Given the description of an element on the screen output the (x, y) to click on. 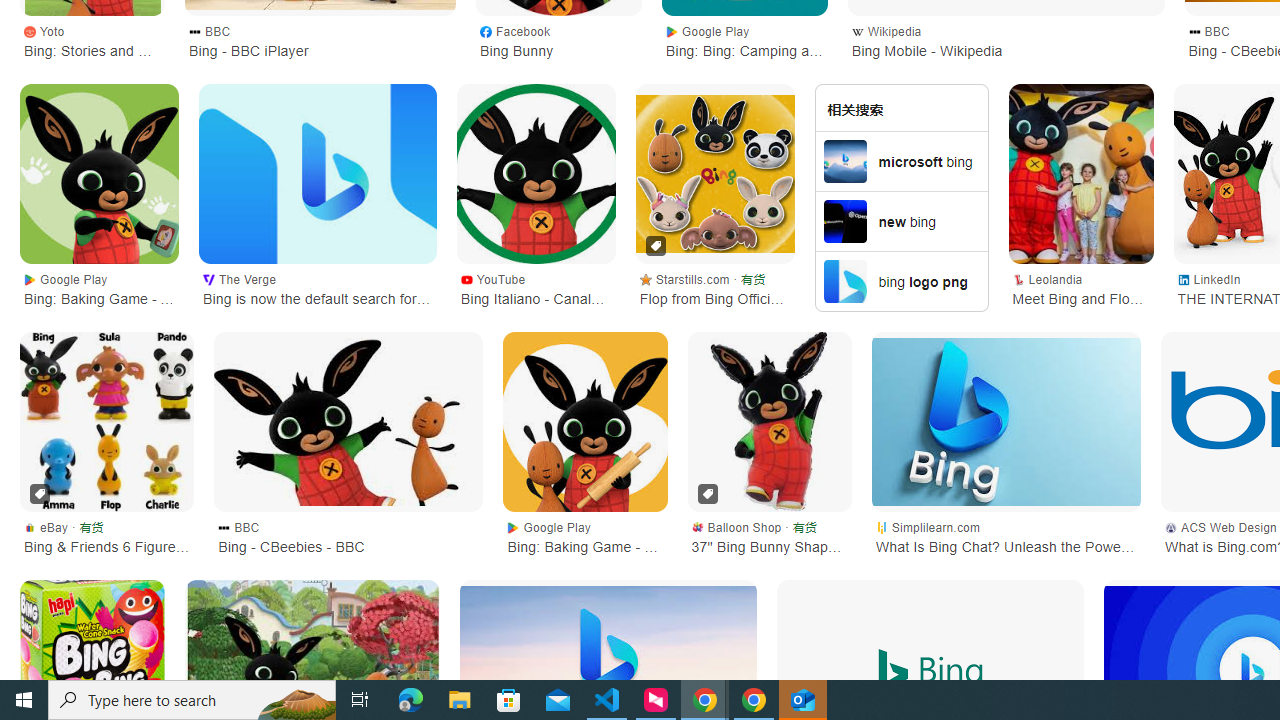
Google Play Bing: Baking Game - Apps on Google Play (99, 287)
bing logo png (901, 281)
Bing: Baking Game - Apps on Google Play (99, 174)
BBC Bing - CBeebies - BBC (348, 535)
What Is Bing Chat? Unleash the Power of GPT-4 With Bing Chat (1005, 421)
Bing: Baking Game - Apps on Google Play (99, 174)
